Given the description of an element on the screen output the (x, y) to click on. 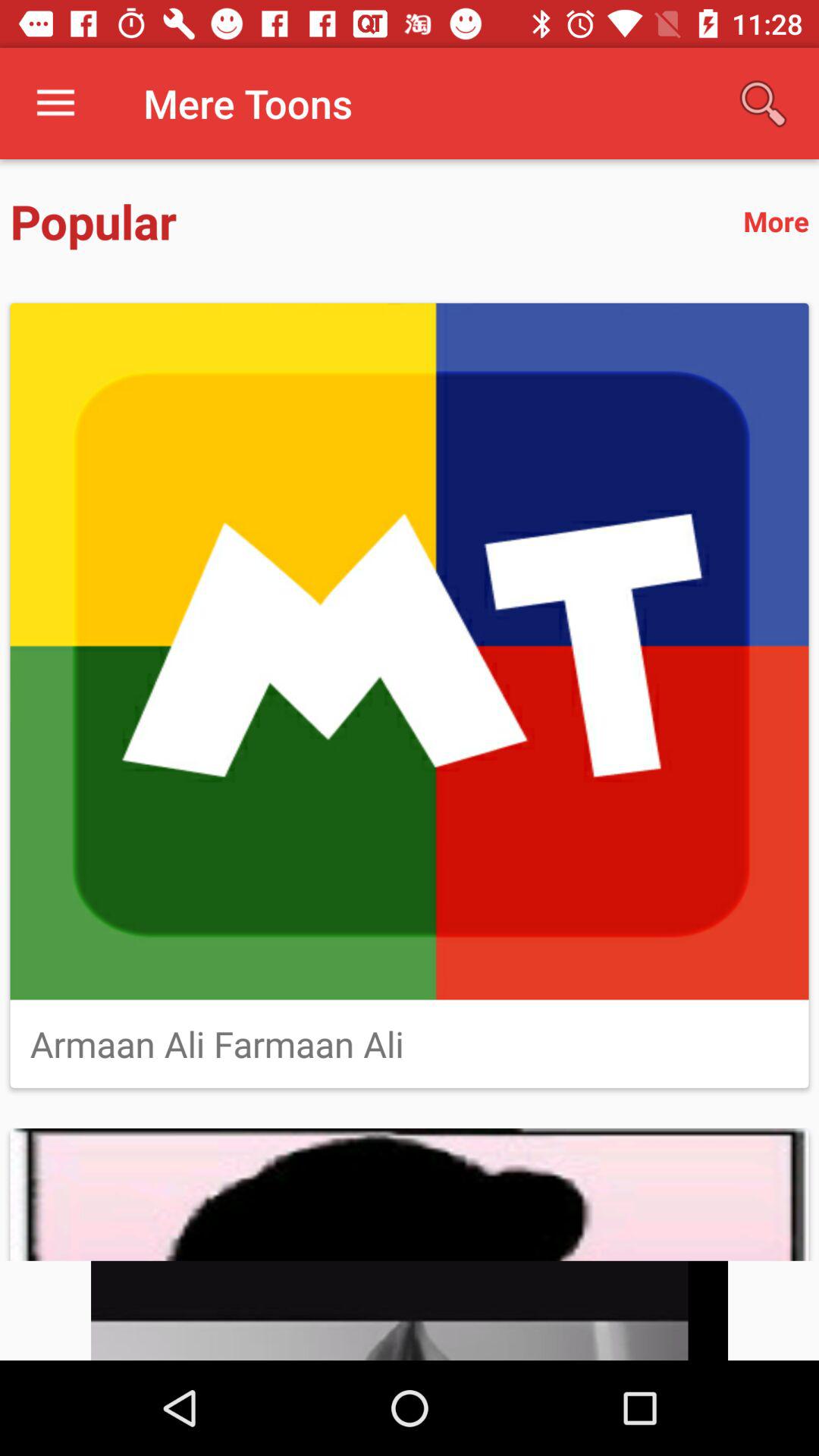
press item above popular item (55, 103)
